Given the description of an element on the screen output the (x, y) to click on. 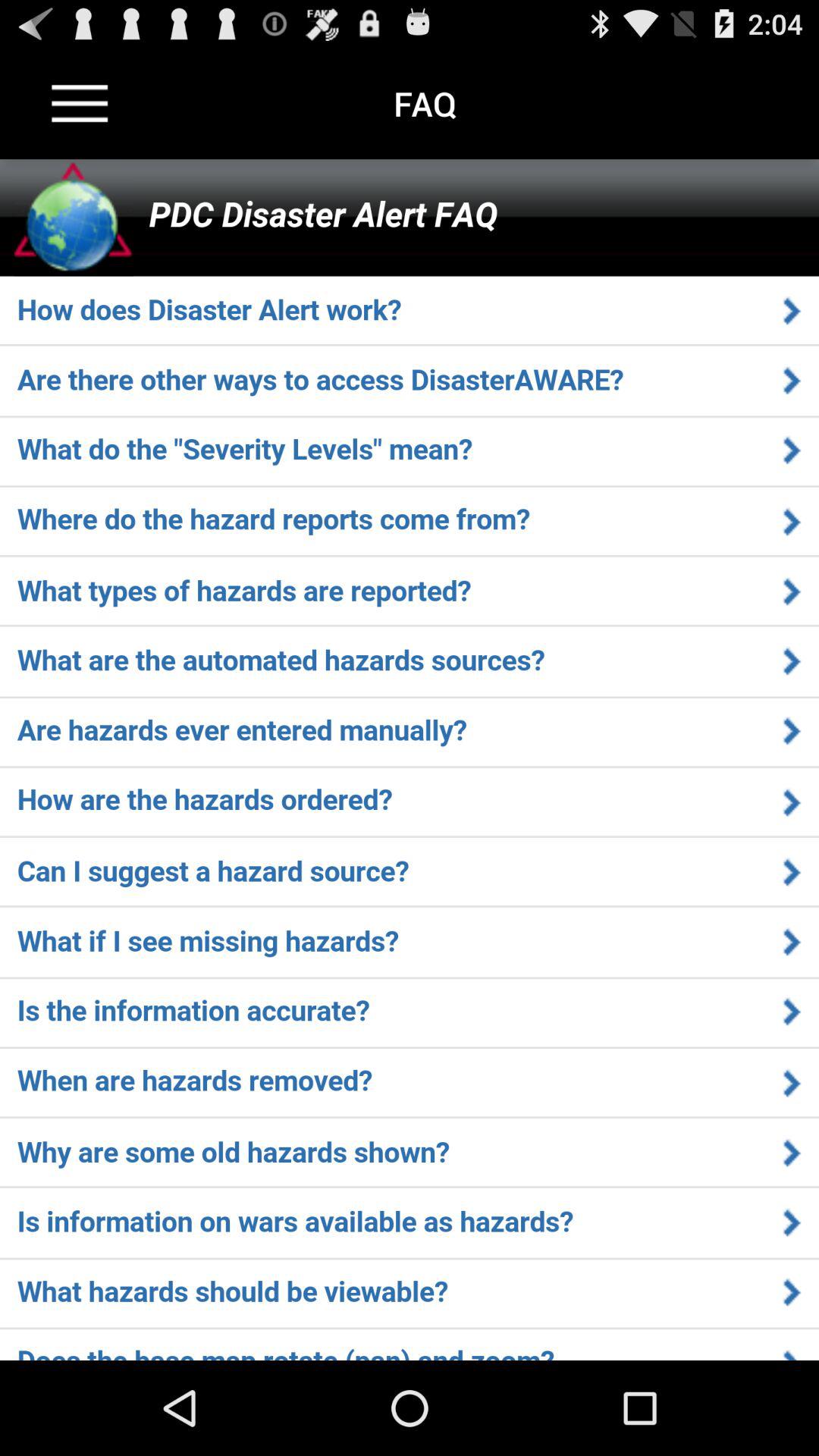
it 's the drop down menu (79, 103)
